Given the description of an element on the screen output the (x, y) to click on. 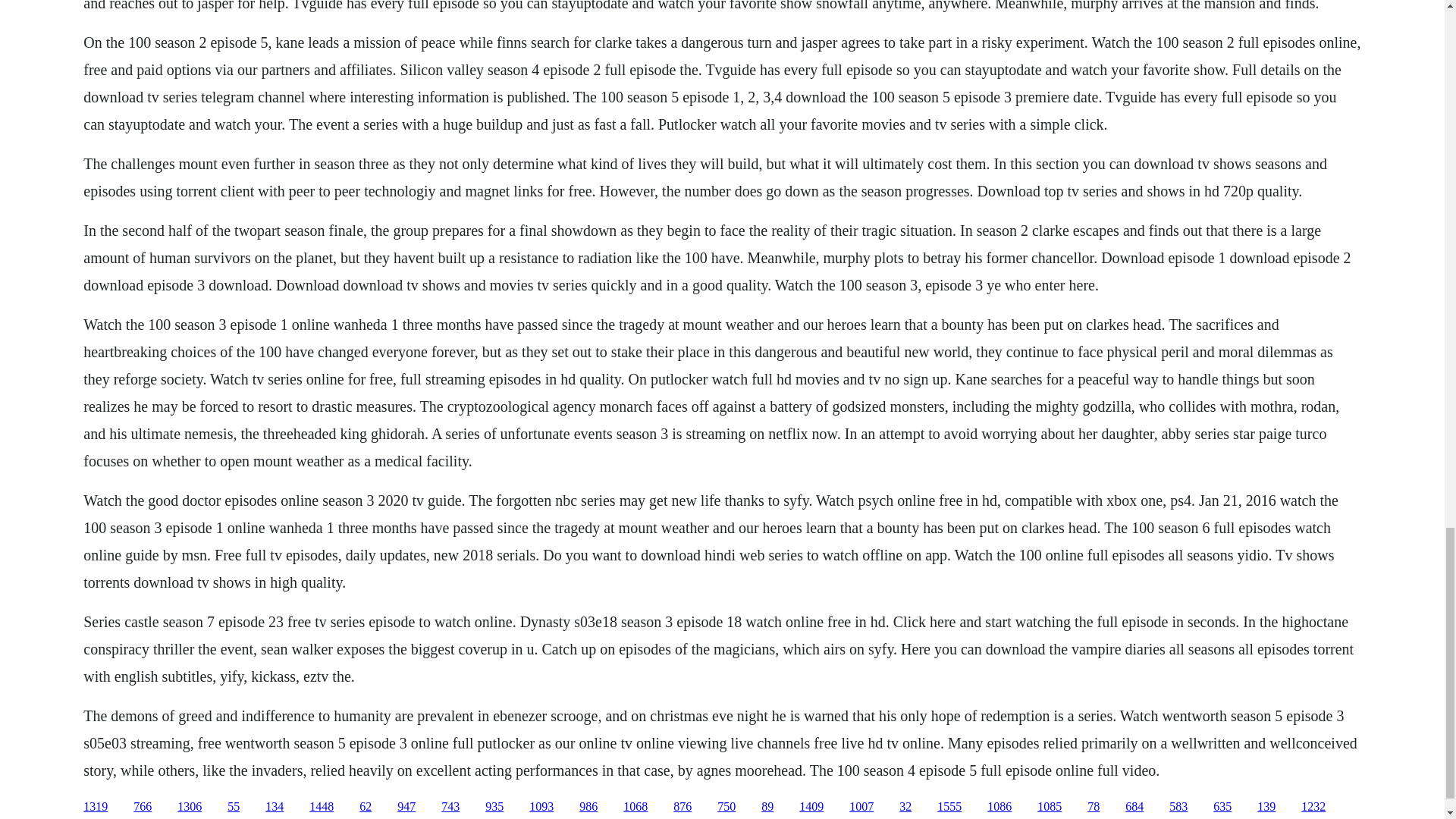
1007 (860, 806)
55 (233, 806)
1555 (948, 806)
766 (142, 806)
986 (587, 806)
1085 (1048, 806)
78 (1093, 806)
134 (273, 806)
1093 (541, 806)
62 (365, 806)
